Given the description of an element on the screen output the (x, y) to click on. 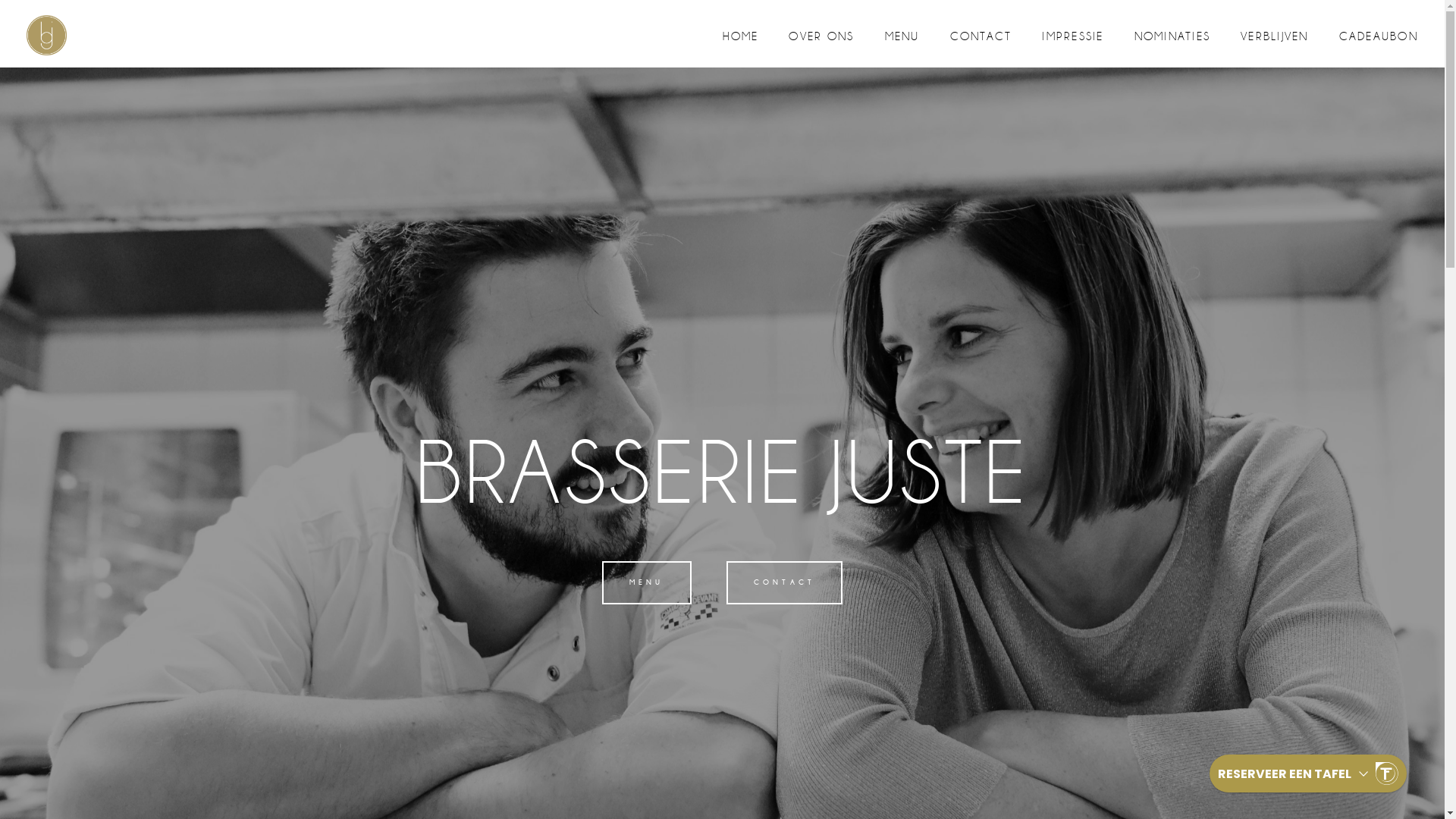
CADEAUBON Element type: text (1378, 35)
CONTACT Element type: text (784, 582)
HOME Element type: text (740, 35)
VERBLIJVEN Element type: text (1274, 35)
CONTACT Element type: text (981, 35)
MENU Element type: text (646, 582)
IMPRESSIE Element type: text (1072, 35)
MENU Element type: text (901, 35)
NOMINATIES Element type: text (1172, 35)
OVER ONS Element type: text (820, 35)
